Given the description of an element on the screen output the (x, y) to click on. 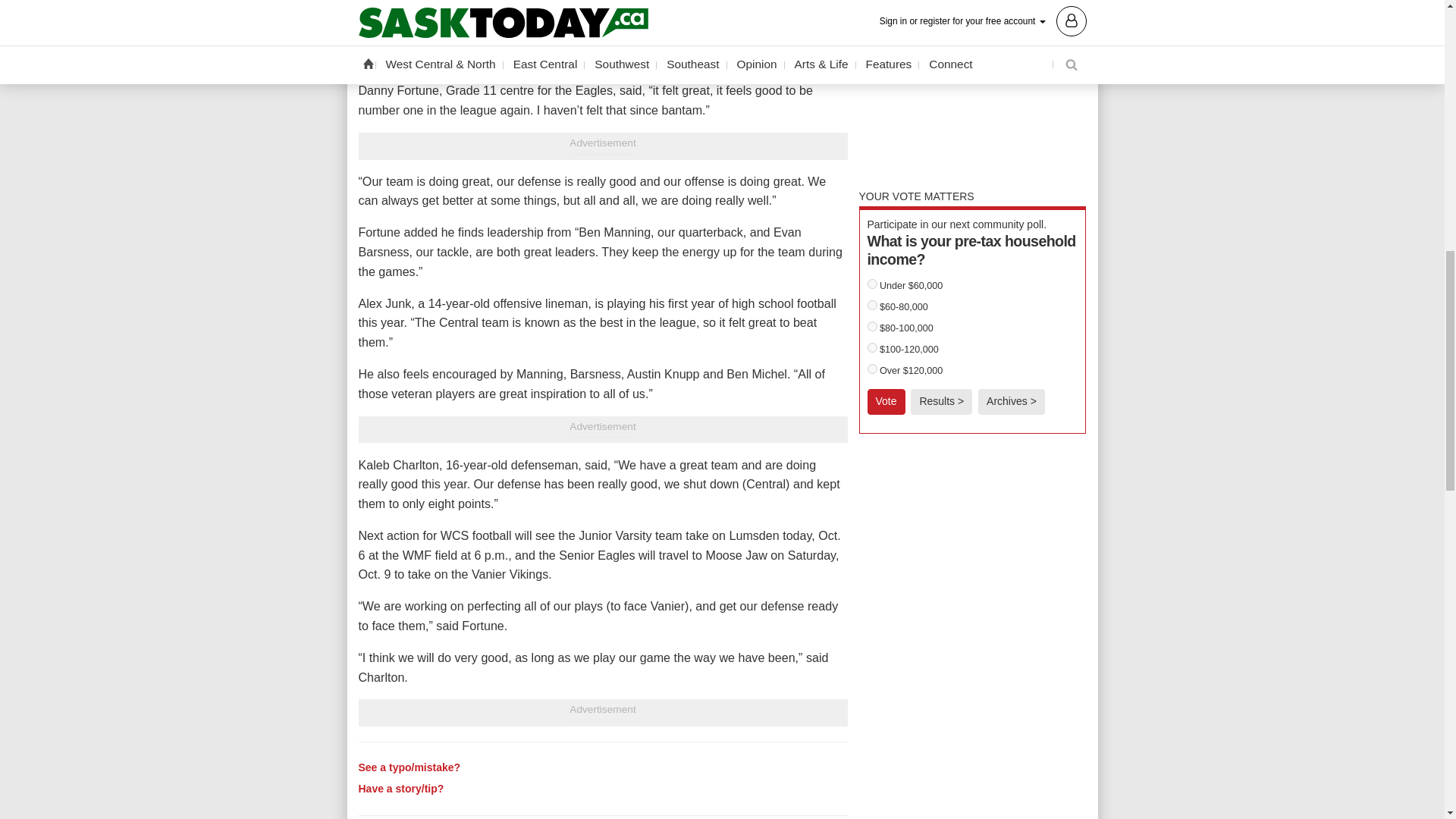
121932 (872, 305)
121935 (872, 368)
121934 (872, 347)
121933 (872, 326)
121931 (872, 284)
